Given the description of an element on the screen output the (x, y) to click on. 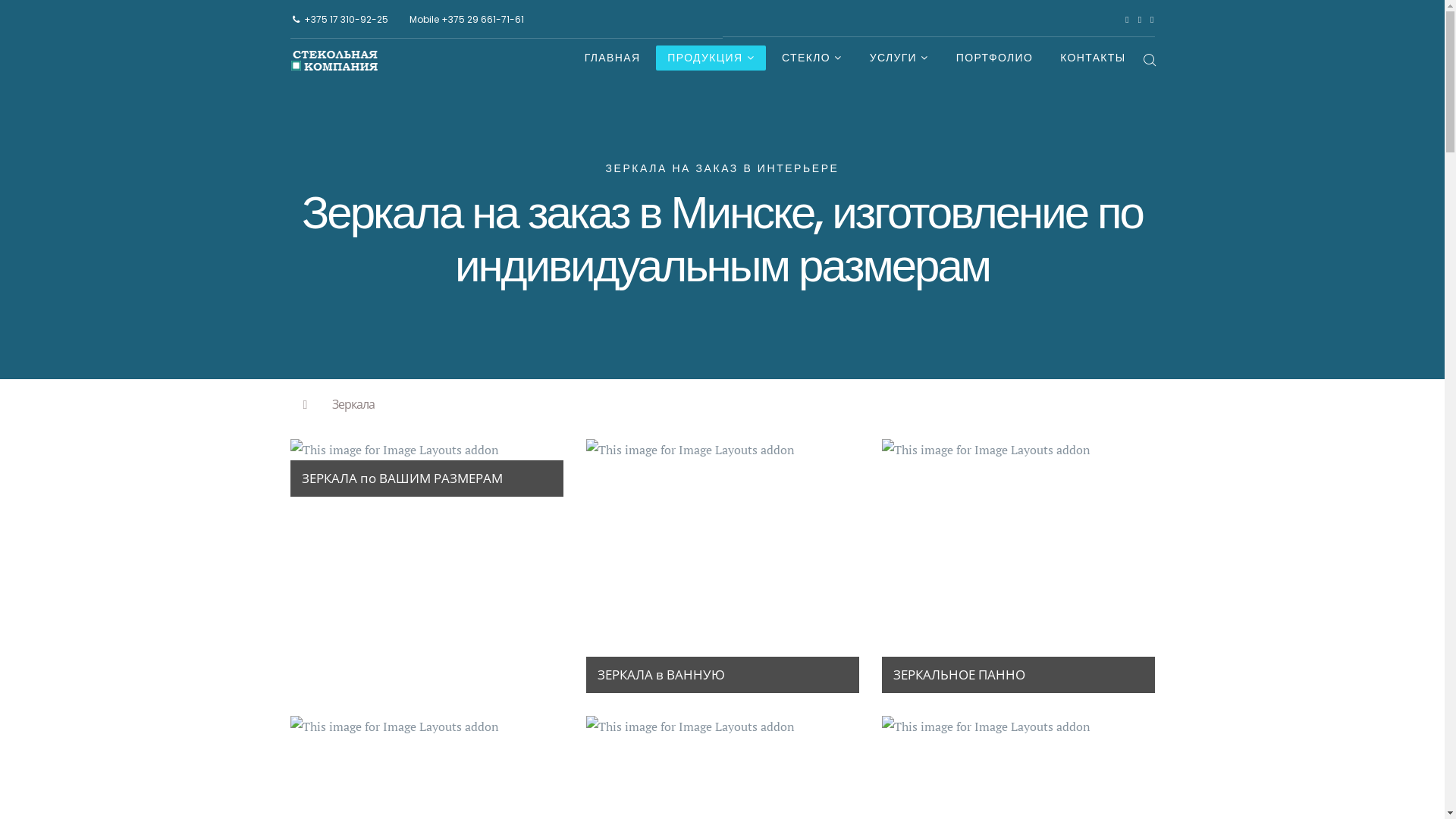
+375 29 661-71-61 Element type: text (482, 18)
+375 17 310-92-25 Element type: text (345, 18)
